Given the description of an element on the screen output the (x, y) to click on. 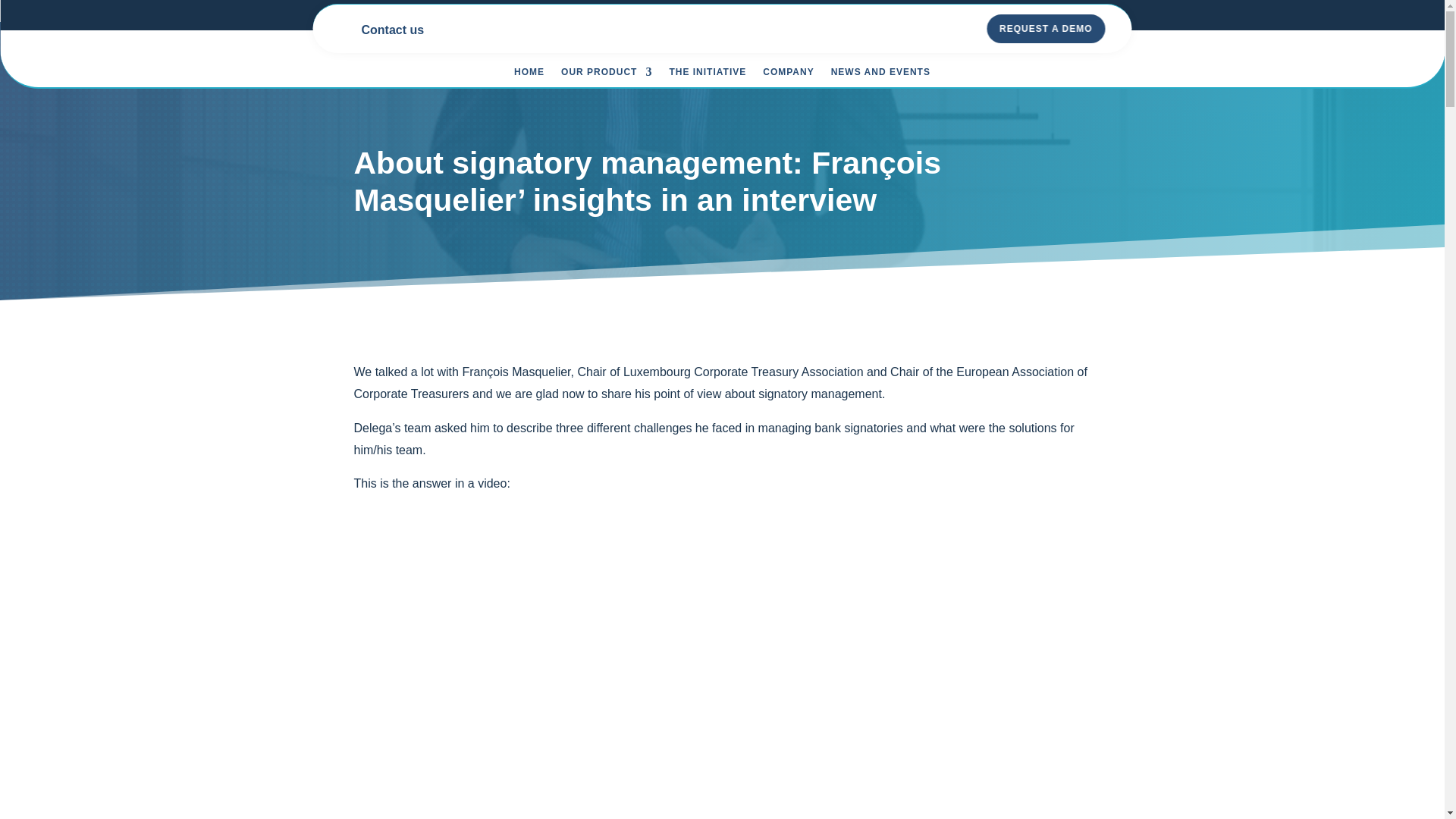
Privacy Policy (37, 10)
Privacy Policy  (37, 10)
HOME (528, 74)
Contact us (393, 29)
COMPANY (787, 74)
NEWS AND EVENTS (880, 74)
THE INITIATIVE (706, 74)
OUR PRODUCT (606, 74)
REQUEST A DEMO (1046, 28)
